Given the description of an element on the screen output the (x, y) to click on. 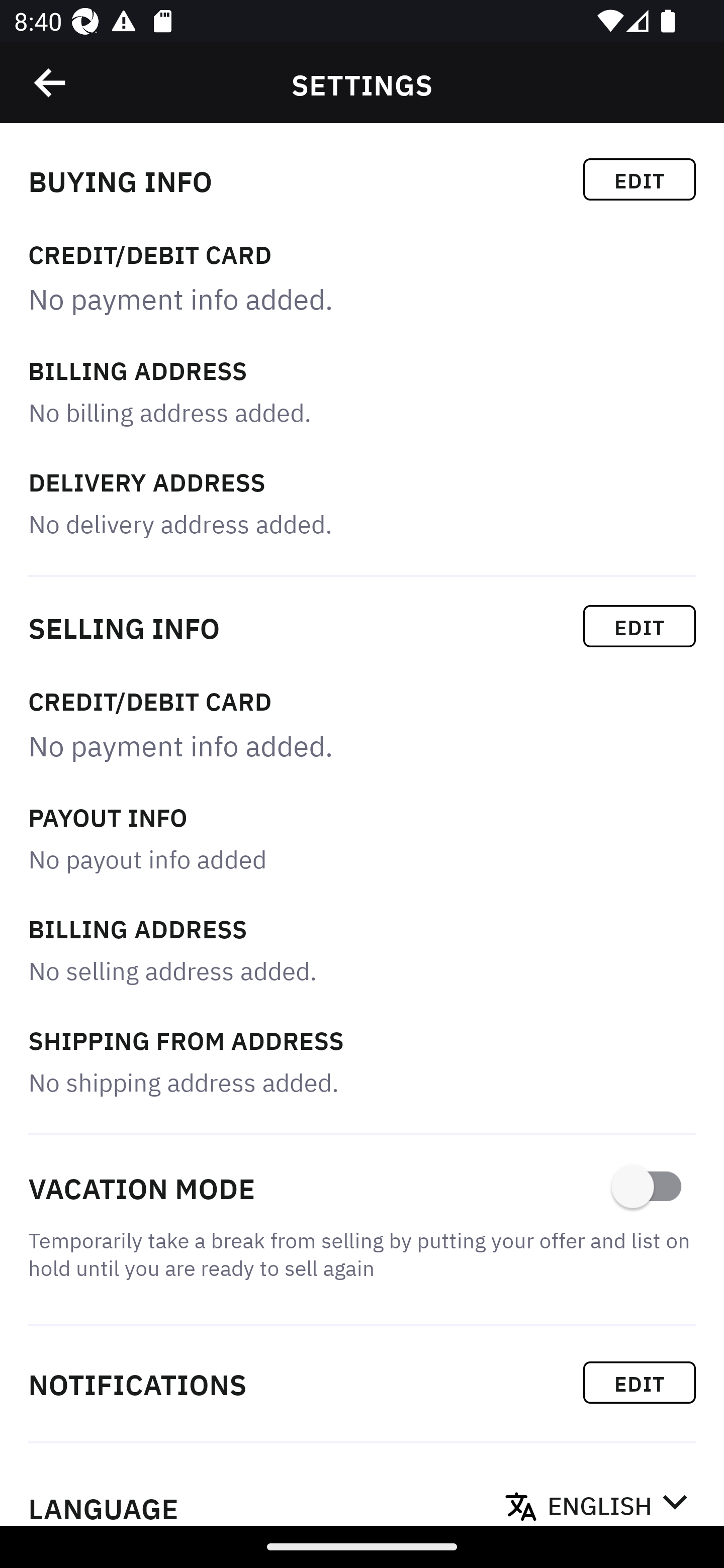
 (50, 83)
EDIT (639, 179)
EDIT (639, 626)
EDIT (639, 1382)
ENGLISH  (617, 1499)
